Given the description of an element on the screen output the (x, y) to click on. 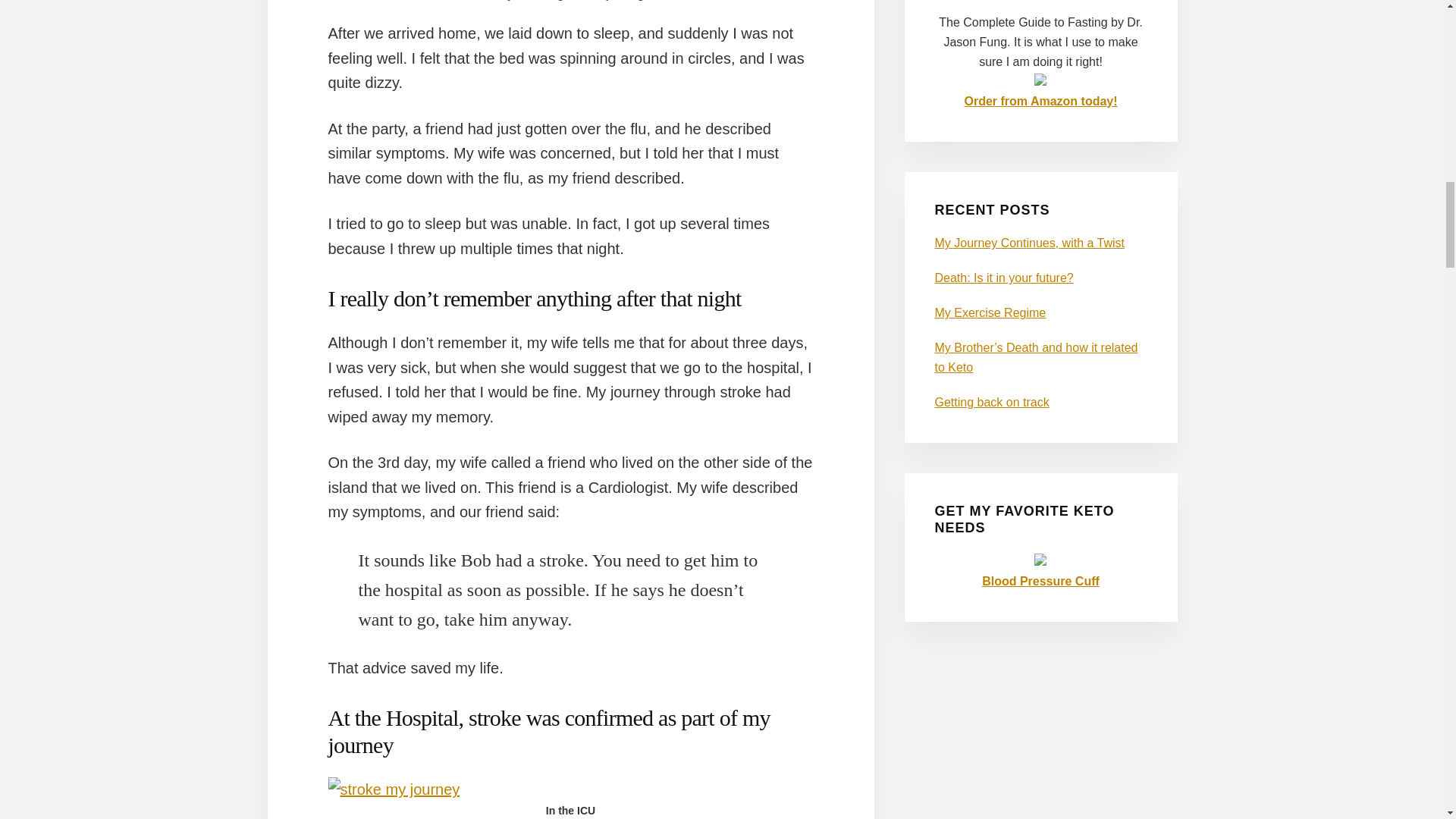
Order from Amazon today! (1039, 101)
